Given the description of an element on the screen output the (x, y) to click on. 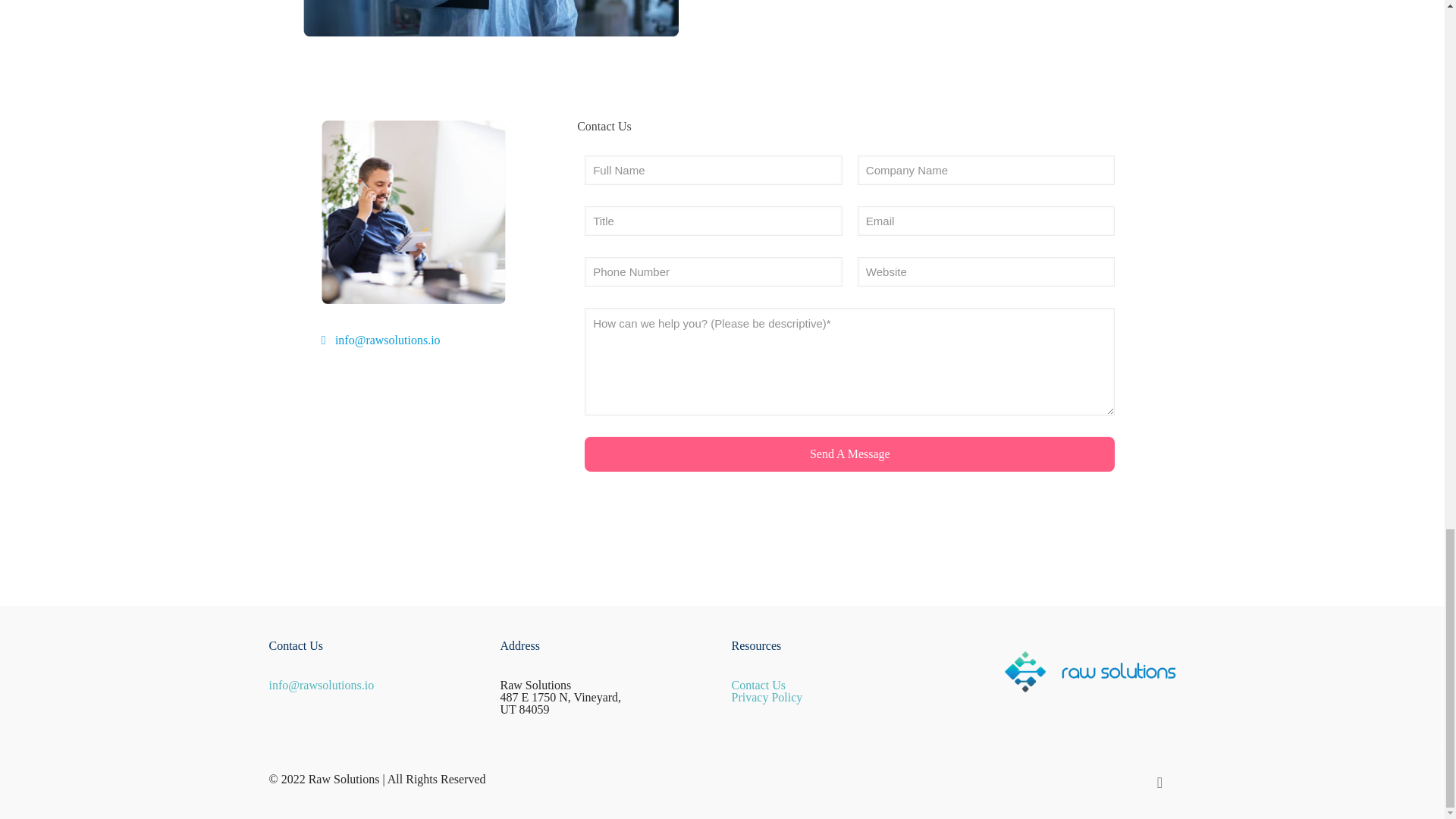
Send A Message (850, 453)
Privacy Policy (766, 697)
Send A Message (850, 453)
Contact Us (758, 684)
